Given the description of an element on the screen output the (x, y) to click on. 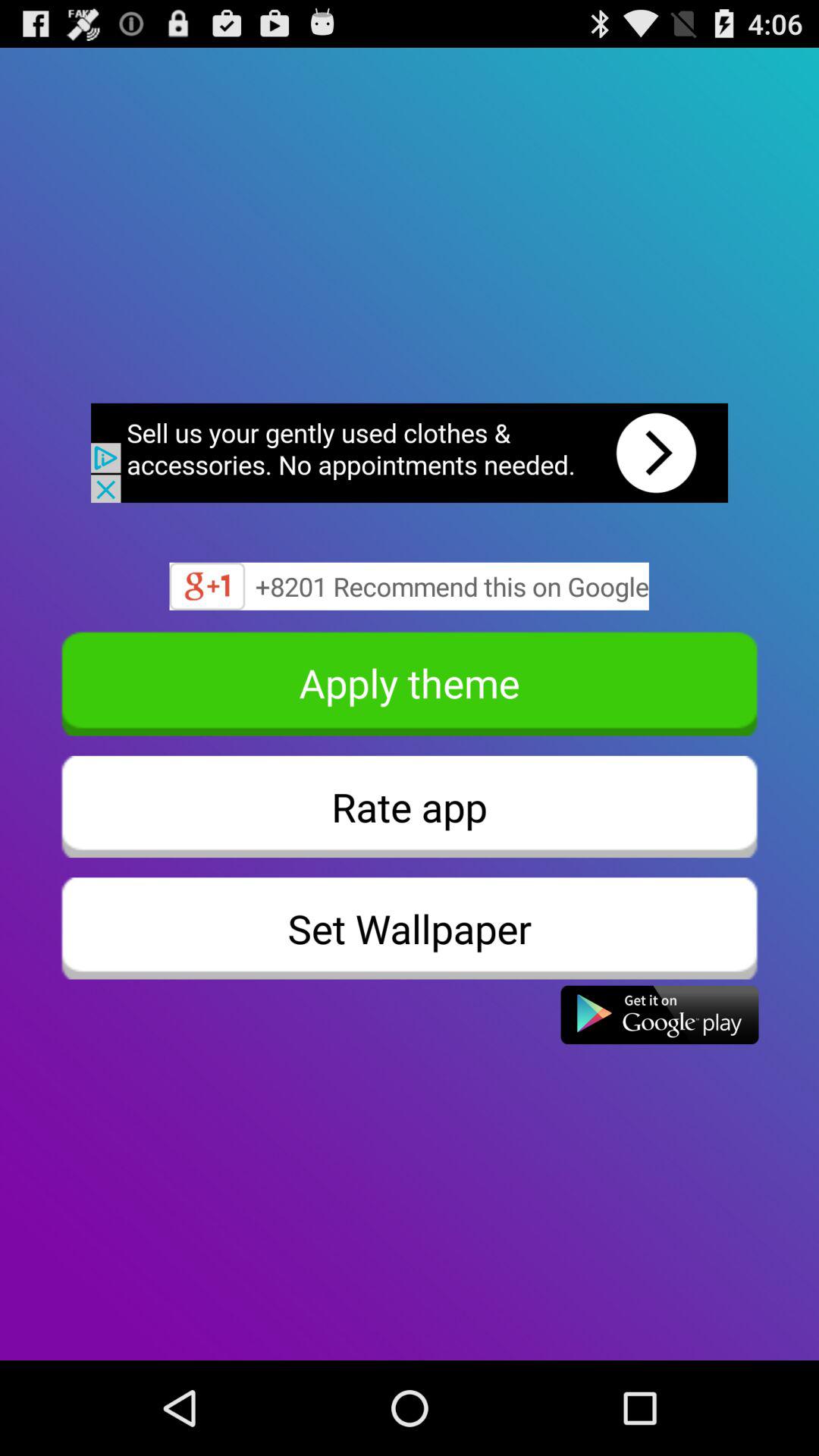
link to advertisement (409, 452)
